Given the description of an element on the screen output the (x, y) to click on. 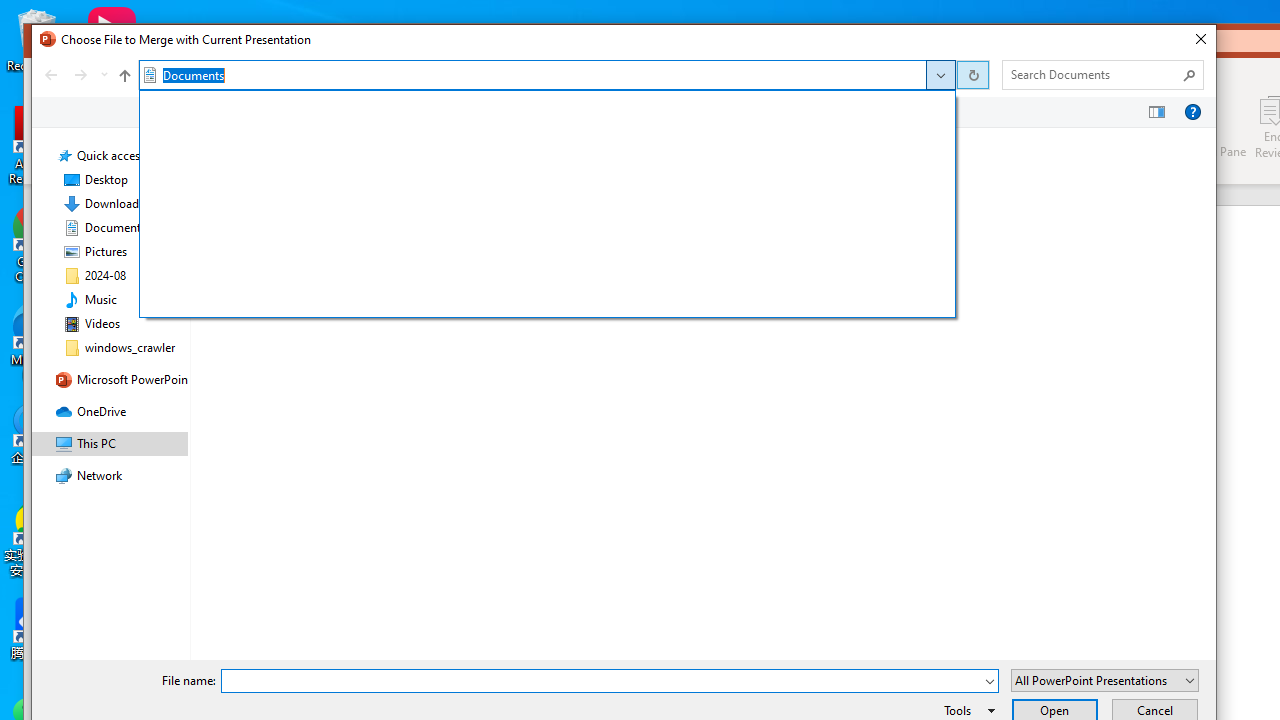
Files of type: (1105, 679)
Forward (Alt + Right Arrow) (81, 74)
Size (767, 140)
Address (547, 74)
File name: (602, 681)
Refresh "Documents" (F5) (972, 74)
Up band toolbar (124, 78)
Filter dropdown (799, 140)
File name: (609, 680)
Recent locations (103, 74)
Type (668, 140)
Date modified (535, 211)
Address (542, 74)
